Given the description of an element on the screen output the (x, y) to click on. 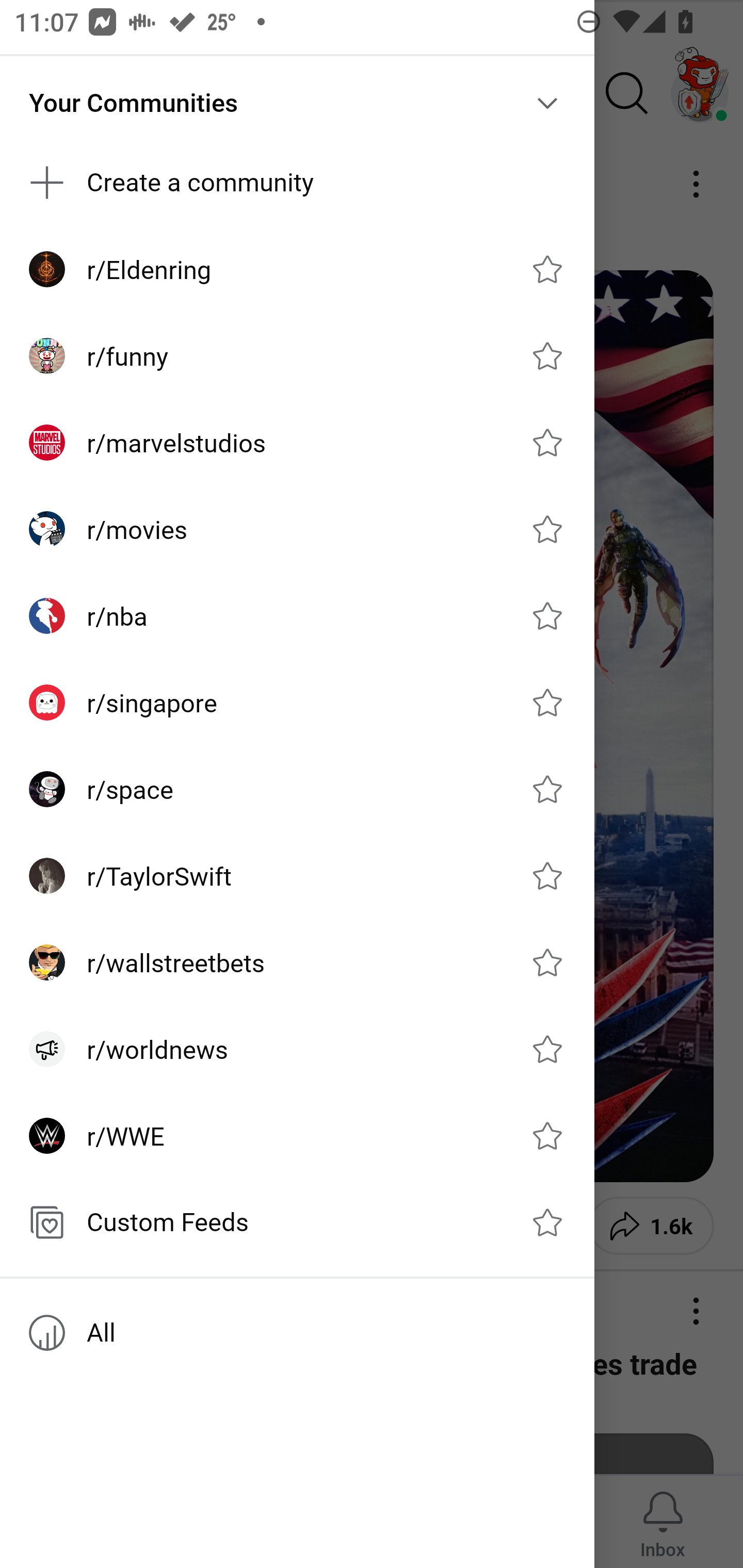
Your Communities (297, 103)
Create a community (297, 182)
r/Eldenring Favorite r/Eldenring (297, 268)
Favorite r/Eldenring (546, 268)
r/funny Favorite r/funny (297, 355)
Favorite r/funny (546, 355)
r/marvelstudios Favorite r/marvelstudios (297, 442)
Favorite r/marvelstudios (546, 442)
r/movies Favorite r/movies (297, 529)
Favorite r/movies (546, 529)
r/nba Favorite r/nba (297, 615)
Favorite r/nba (546, 615)
r/singapore Favorite r/singapore (297, 702)
Favorite r/singapore (546, 702)
r/space Favorite r/space (297, 789)
Favorite r/space (546, 789)
r/TaylorSwift Favorite r/TaylorSwift (297, 875)
Favorite r/TaylorSwift (546, 875)
r/wallstreetbets Favorite r/wallstreetbets (297, 961)
Favorite r/wallstreetbets (546, 961)
r/worldnews Favorite r/worldnews (297, 1048)
Favorite r/worldnews (546, 1048)
r/WWE Favorite r/WWE (297, 1135)
Favorite r/WWE (546, 1136)
Custom Feeds (297, 1222)
All (297, 1332)
